Given the description of an element on the screen output the (x, y) to click on. 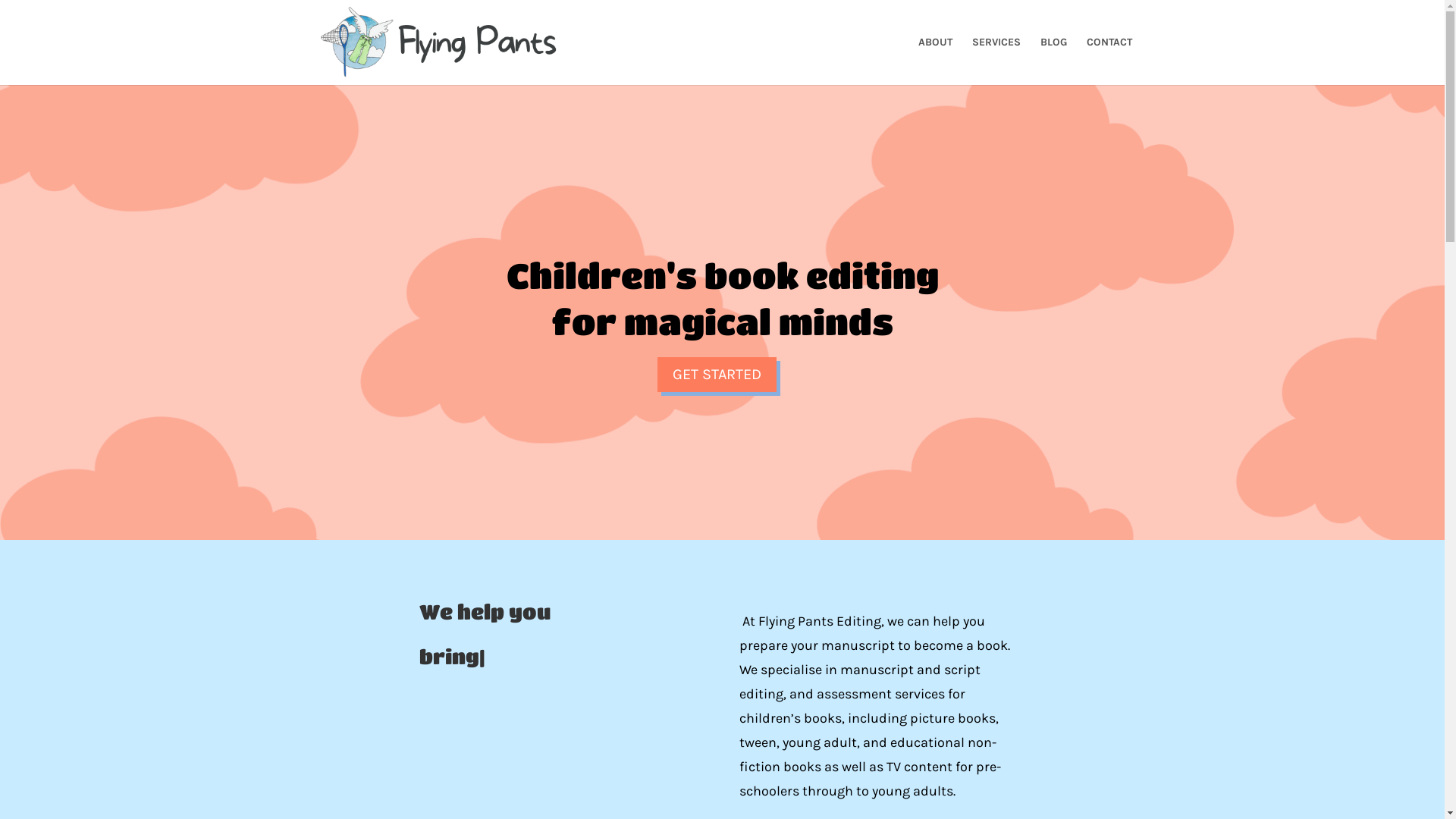
ABOUT Element type: text (934, 60)
GET STARTED Element type: text (715, 374)
CONTACT Element type: text (1108, 60)
SERVICES Element type: text (996, 60)
BLOG Element type: text (1053, 60)
